Given the description of an element on the screen output the (x, y) to click on. 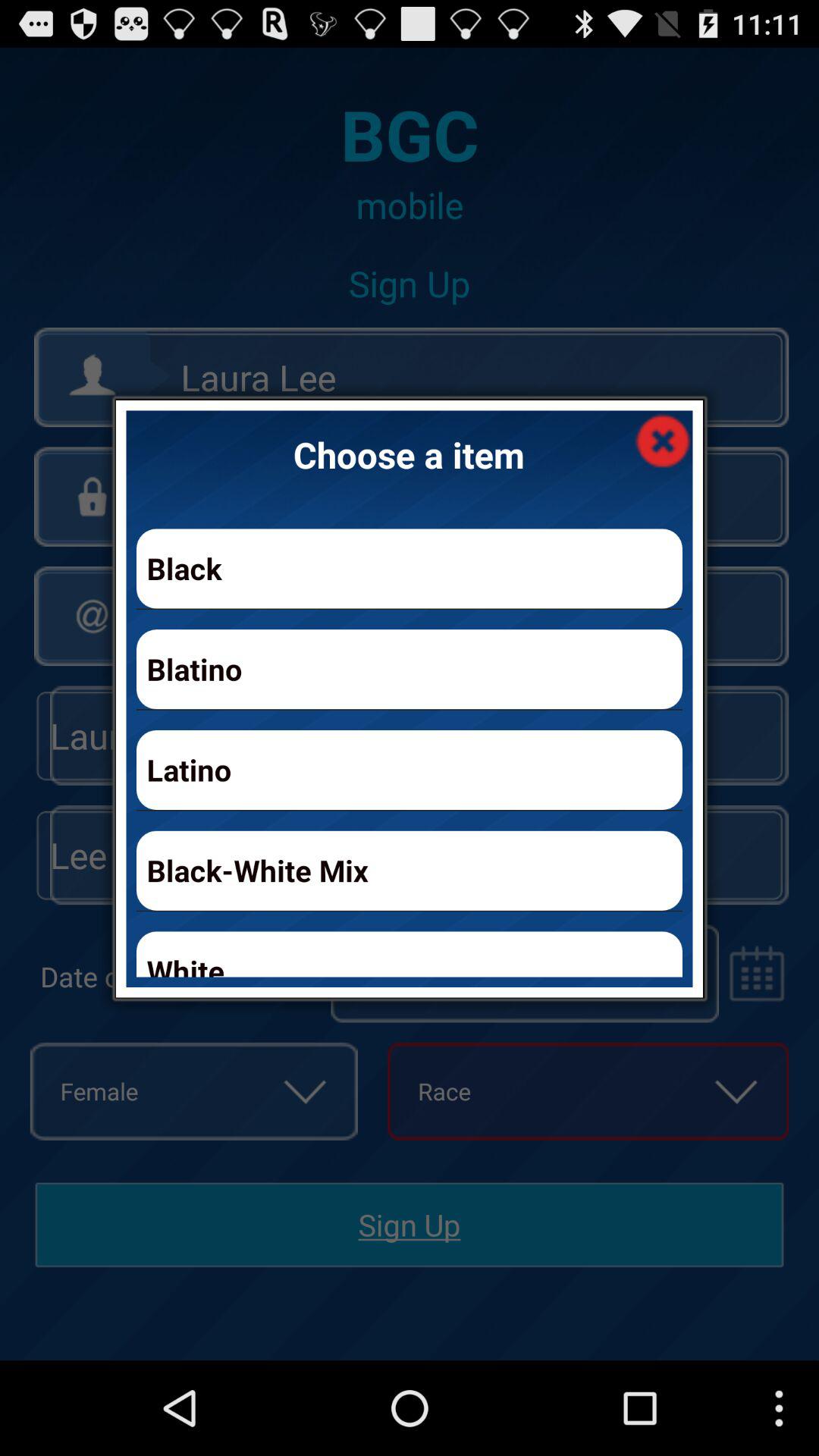
press app above latino app (409, 669)
